Given the description of an element on the screen output the (x, y) to click on. 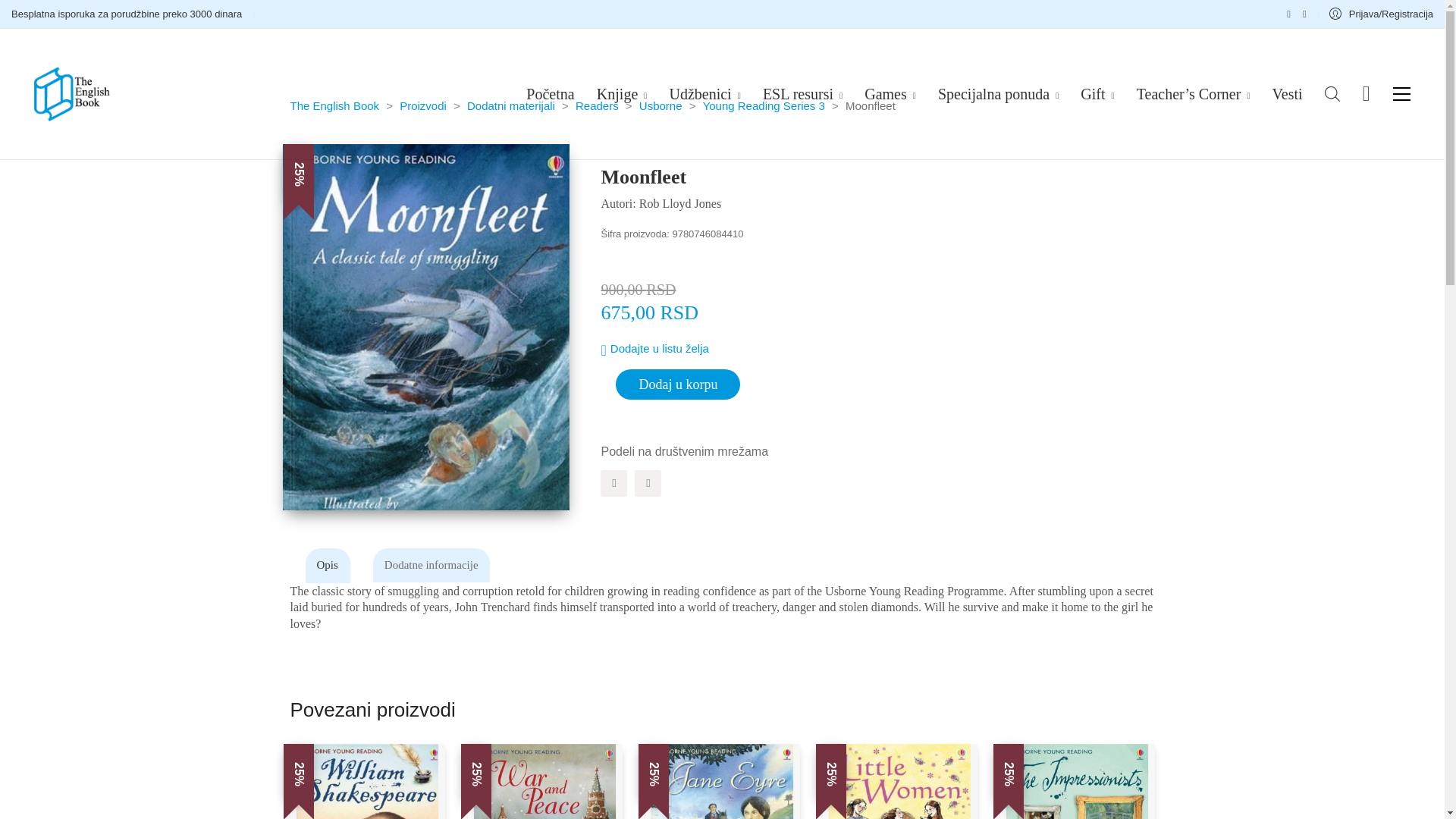
Go to the Usborne Kategorija archives. (660, 105)
Go to Proizvodi. (422, 105)
Go to The English Book. (333, 105)
Go to the Readers Kategorija archives. (596, 105)
Go to the Dodatni materijali Kategorija archives. (510, 105)
Go to the Young Reading Series 3 Kategorija archives. (764, 105)
